Given the description of an element on the screen output the (x, y) to click on. 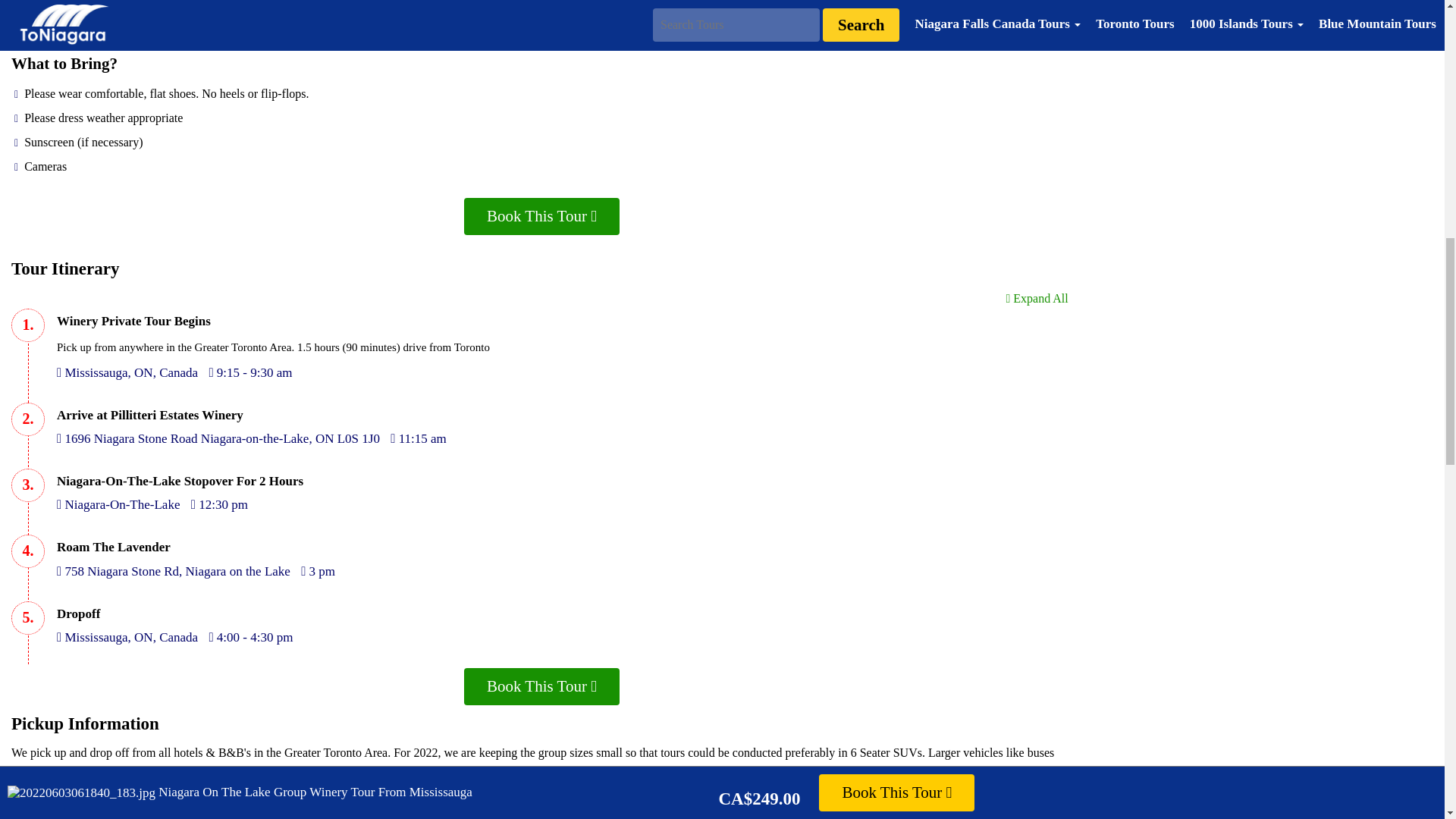
Book This Tour (542, 216)
Expand All (1036, 297)
Book This Tour (542, 686)
